Given the description of an element on the screen output the (x, y) to click on. 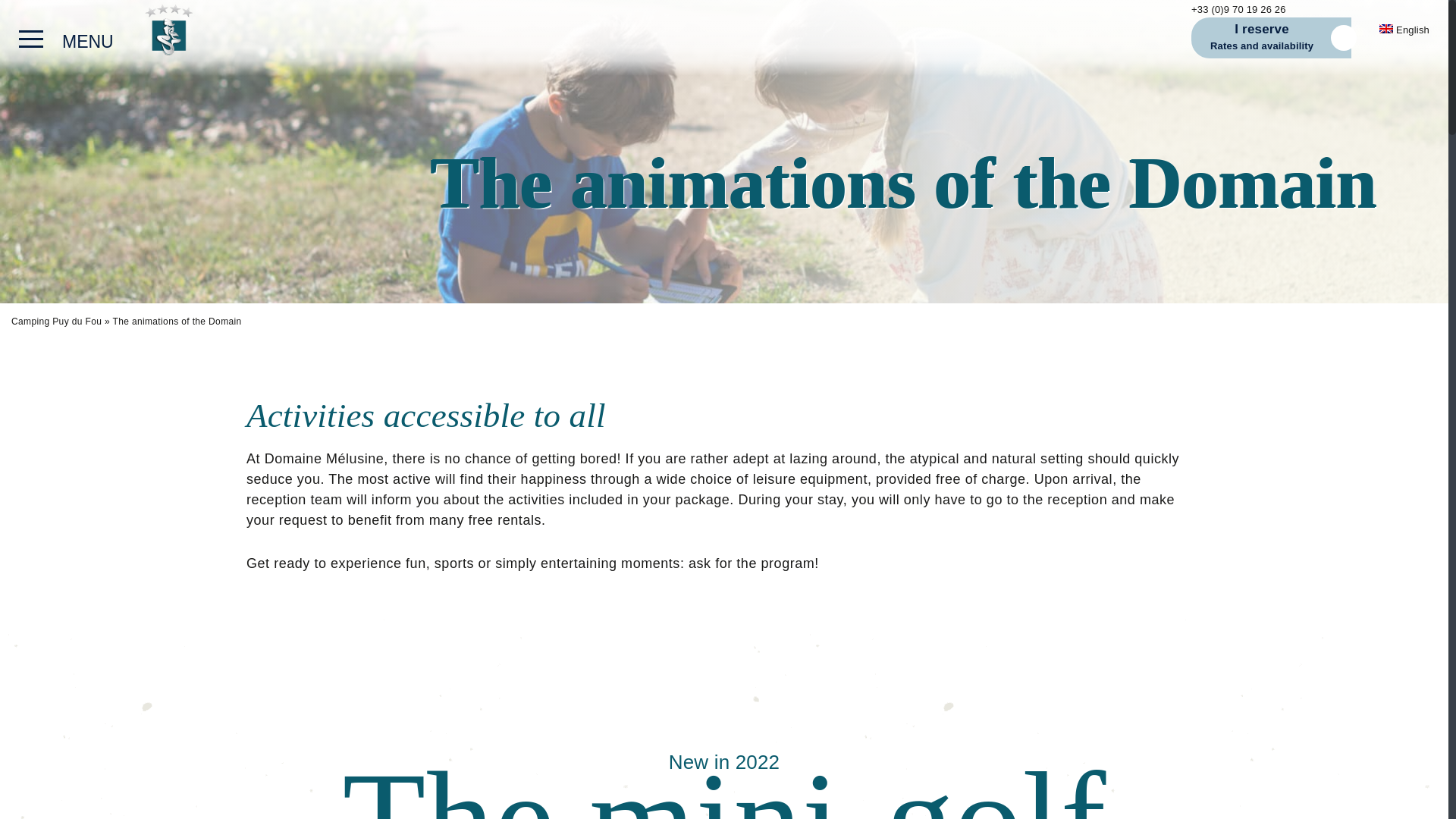
MENU (69, 41)
English (1403, 30)
English (1403, 30)
